Given the description of an element on the screen output the (x, y) to click on. 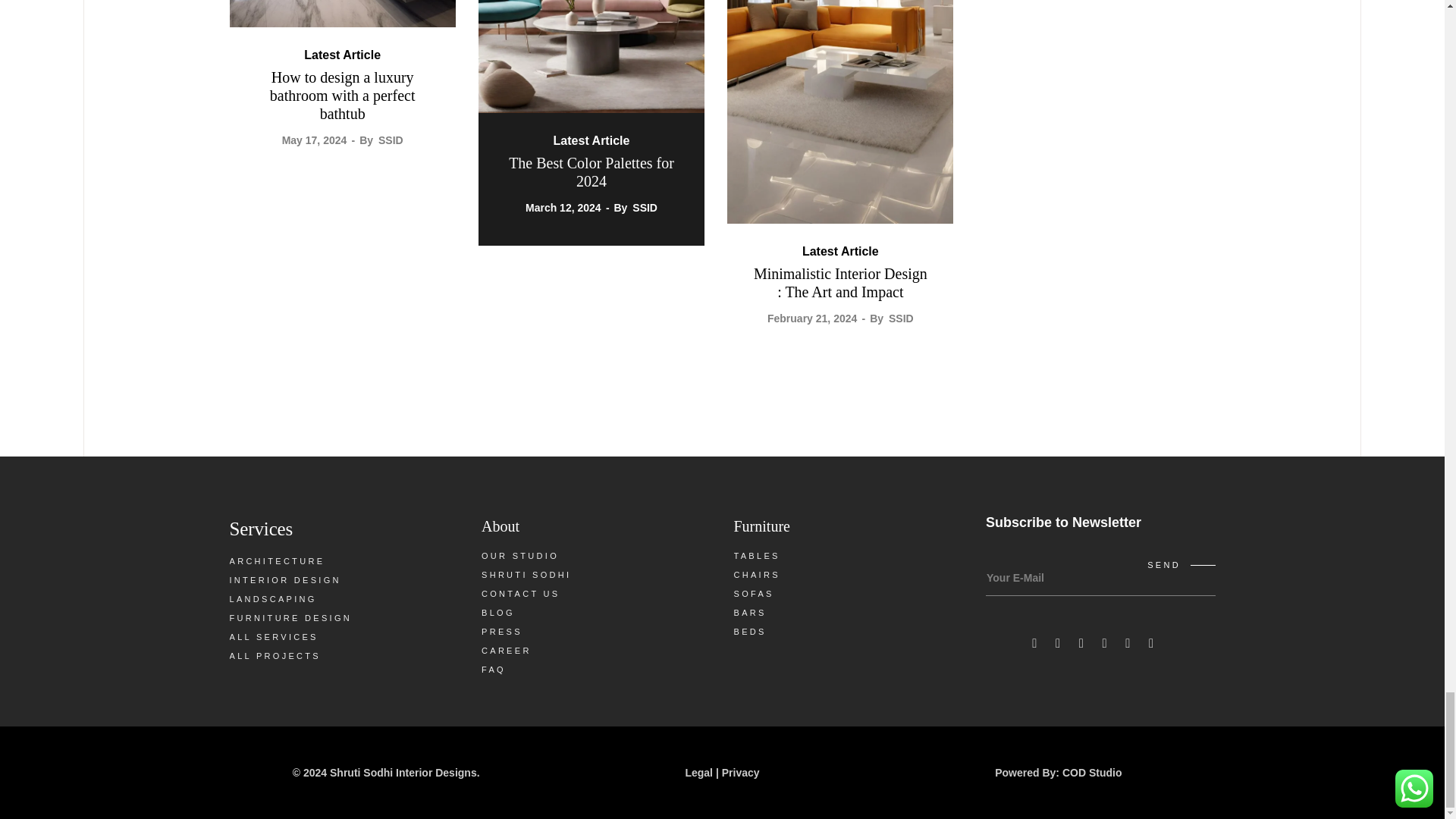
The Best Color Palettes for 2024 (591, 74)
The Best Color Palettes for 2024 (591, 171)
Minimalistic Interior Design : The Art and Impact (840, 282)
How to design a luxury bathroom with a perfect bathtub (341, 13)
How to design a luxury bathroom with a perfect bathtub (341, 95)
Minimalistic Interior Design : The Art and Impact (839, 112)
